Given the description of an element on the screen output the (x, y) to click on. 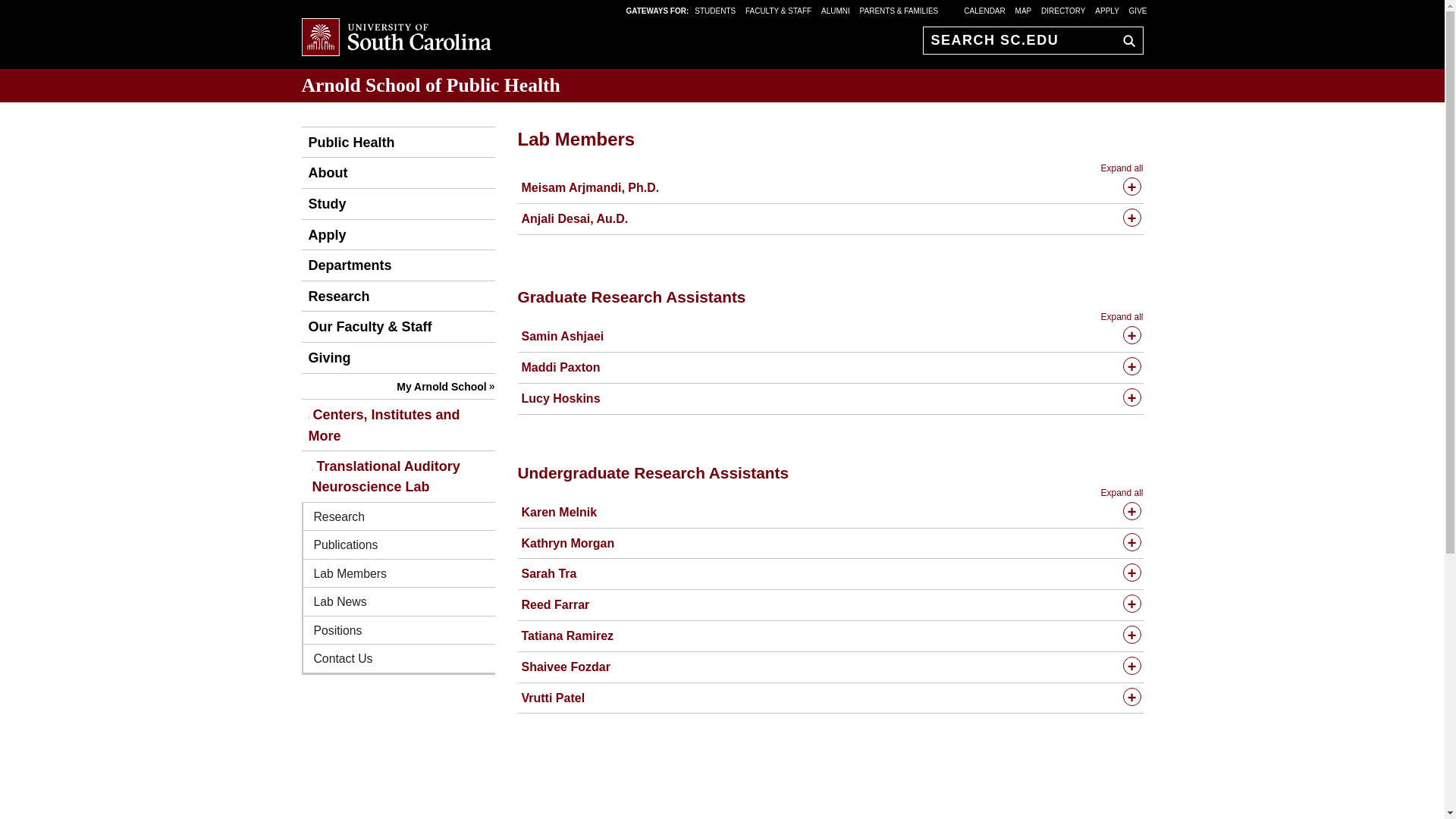
GO (1125, 40)
University of South Carolina Home (396, 38)
Arnold School of Public Health (430, 85)
ALUMNI (835, 9)
Public Health (347, 142)
sc.edu Search (1125, 40)
GO (1125, 40)
GIVE (1138, 9)
DIRECTORY (1063, 9)
MAP (1023, 9)
